Given the description of an element on the screen output the (x, y) to click on. 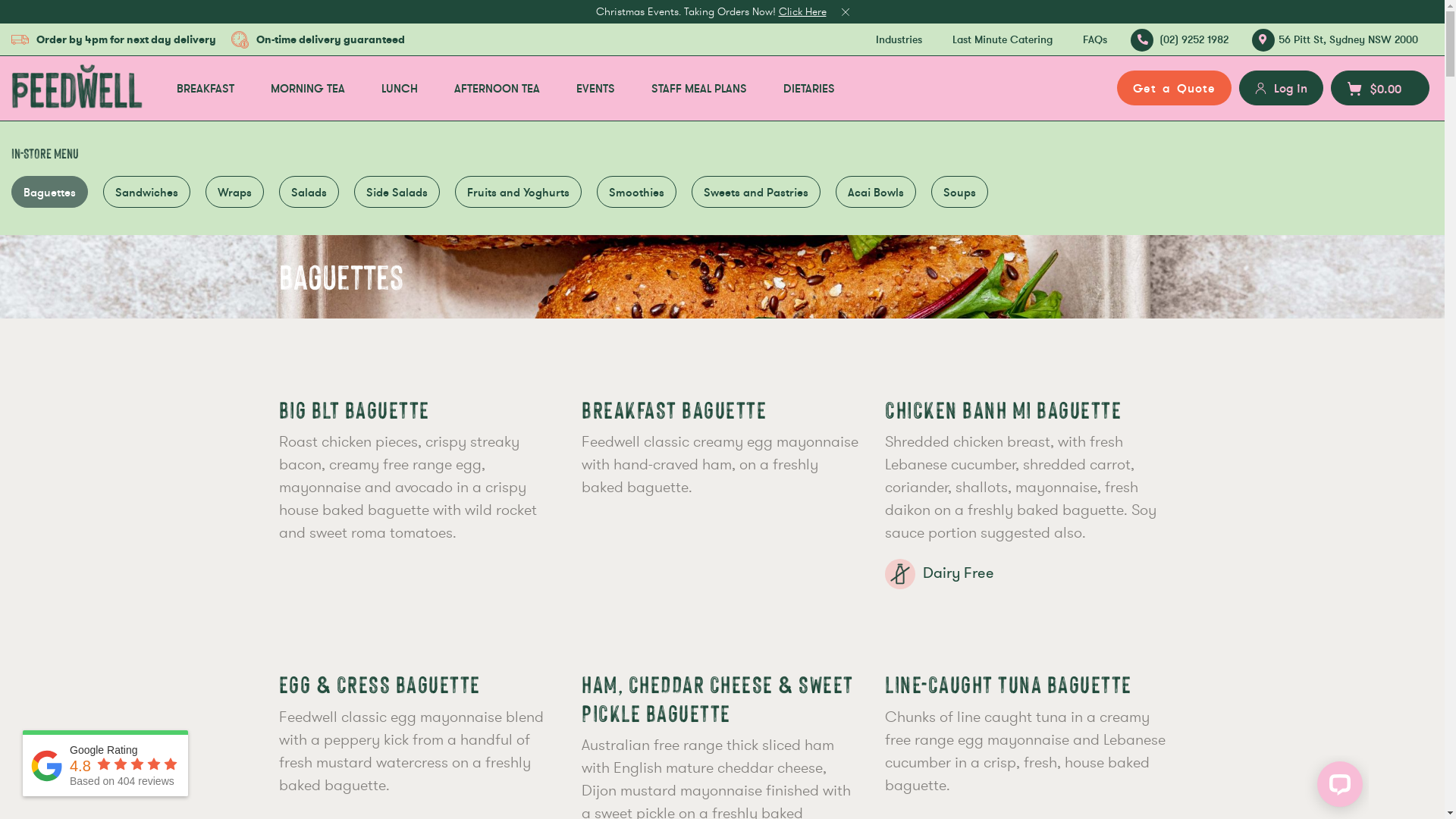
AFTERNOON TEA Element type: text (496, 88)
Feedwell Element type: hover (77, 86)
Acai Bowls Element type: text (875, 191)
DIETARIES Element type: text (808, 88)
Last Minute Catering Element type: text (1002, 39)
Industries Element type: text (898, 39)
BREAKFAST Element type: text (205, 88)
LUNCH Element type: text (399, 88)
Sandwiches Element type: text (146, 191)
Side Salads Element type: text (396, 191)
STAFF MEAL PLANS Element type: text (698, 88)
Fruits and Yoghurts Element type: text (518, 191)
Get a Quote Element type: text (1174, 87)
Click Here Element type: text (801, 11)
Wraps Element type: text (234, 191)
Smoothies Element type: text (636, 191)
Sweets and Pastries Element type: text (755, 191)
$0.00 Element type: text (1379, 87)
Salads Element type: text (308, 191)
56 Pitt St, Sydney NSW 2000 Element type: text (1338, 39)
FAQs Element type: text (1094, 39)
Log in Element type: text (1281, 87)
MORNING TEA Element type: text (307, 88)
EVENTS Element type: text (595, 88)
Soups Element type: text (959, 191)
(02) 9252 1982 Element type: text (1182, 39)
Baguettes Element type: text (49, 191)
